Given the description of an element on the screen output the (x, y) to click on. 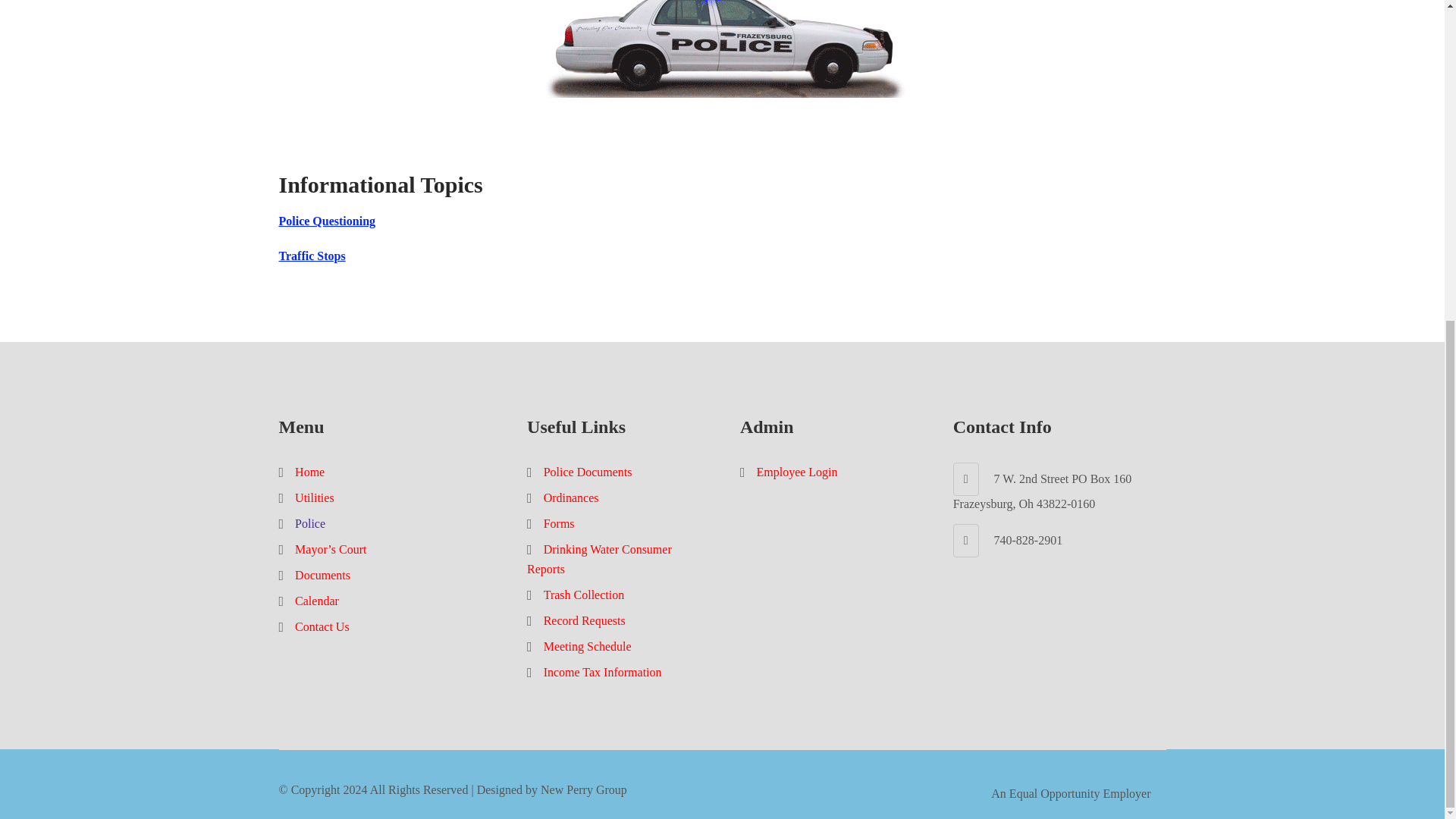
Drinking Water Consumer Reports (599, 559)
New Perry Group (583, 789)
Documents (322, 574)
Meeting Schedule (587, 646)
Police (309, 523)
Forms (559, 523)
Employee Login (796, 471)
Record Requests (584, 620)
Home (309, 471)
Police Documents (587, 471)
Contact Us (322, 626)
Calendar (317, 600)
Utilities (314, 497)
Ordinances (570, 497)
Income Tax Information (602, 671)
